Given the description of an element on the screen output the (x, y) to click on. 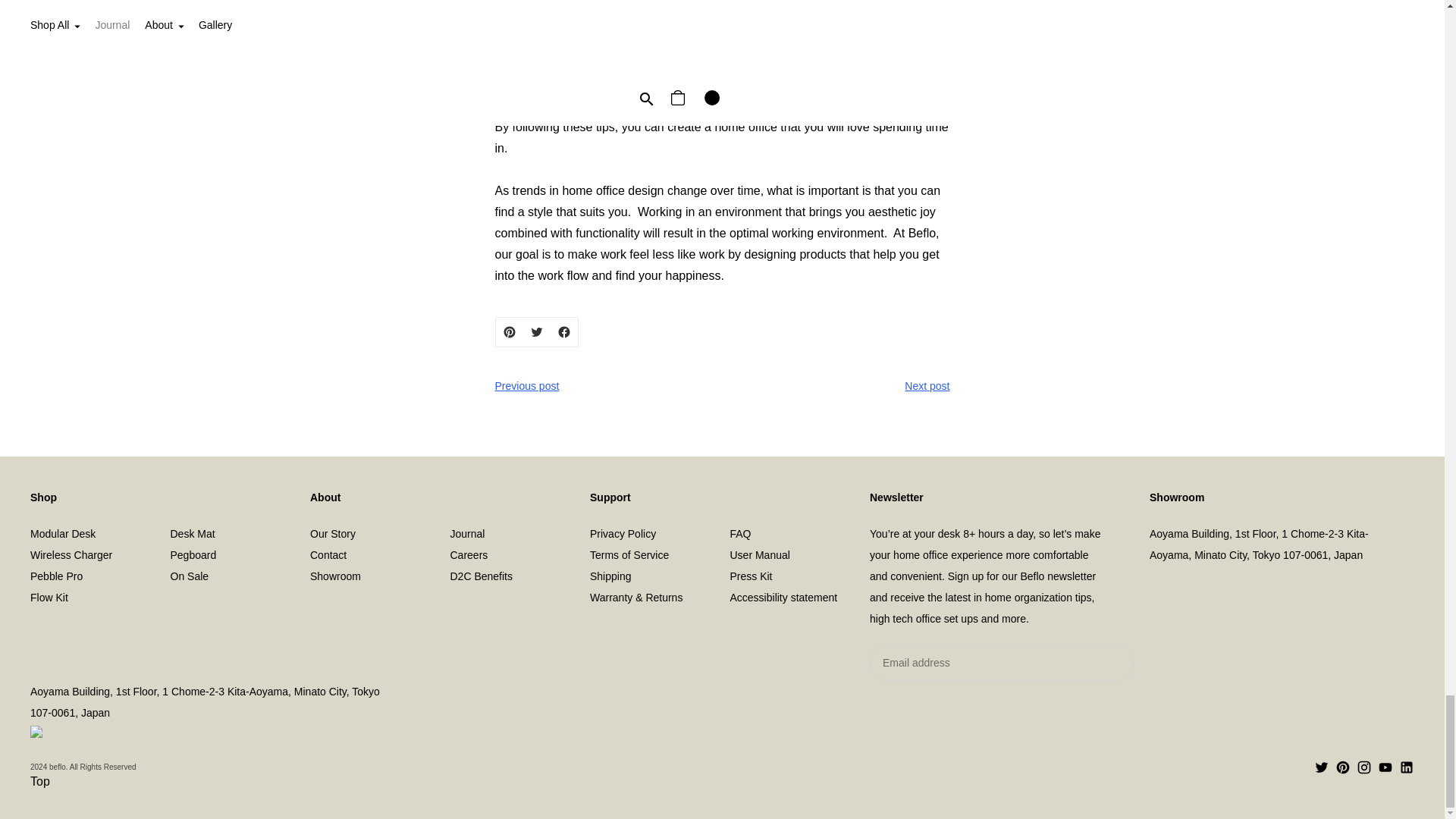
Share to Pinterest (509, 331)
Share to twitter (536, 331)
Share to Facebook (564, 331)
